Given the description of an element on the screen output the (x, y) to click on. 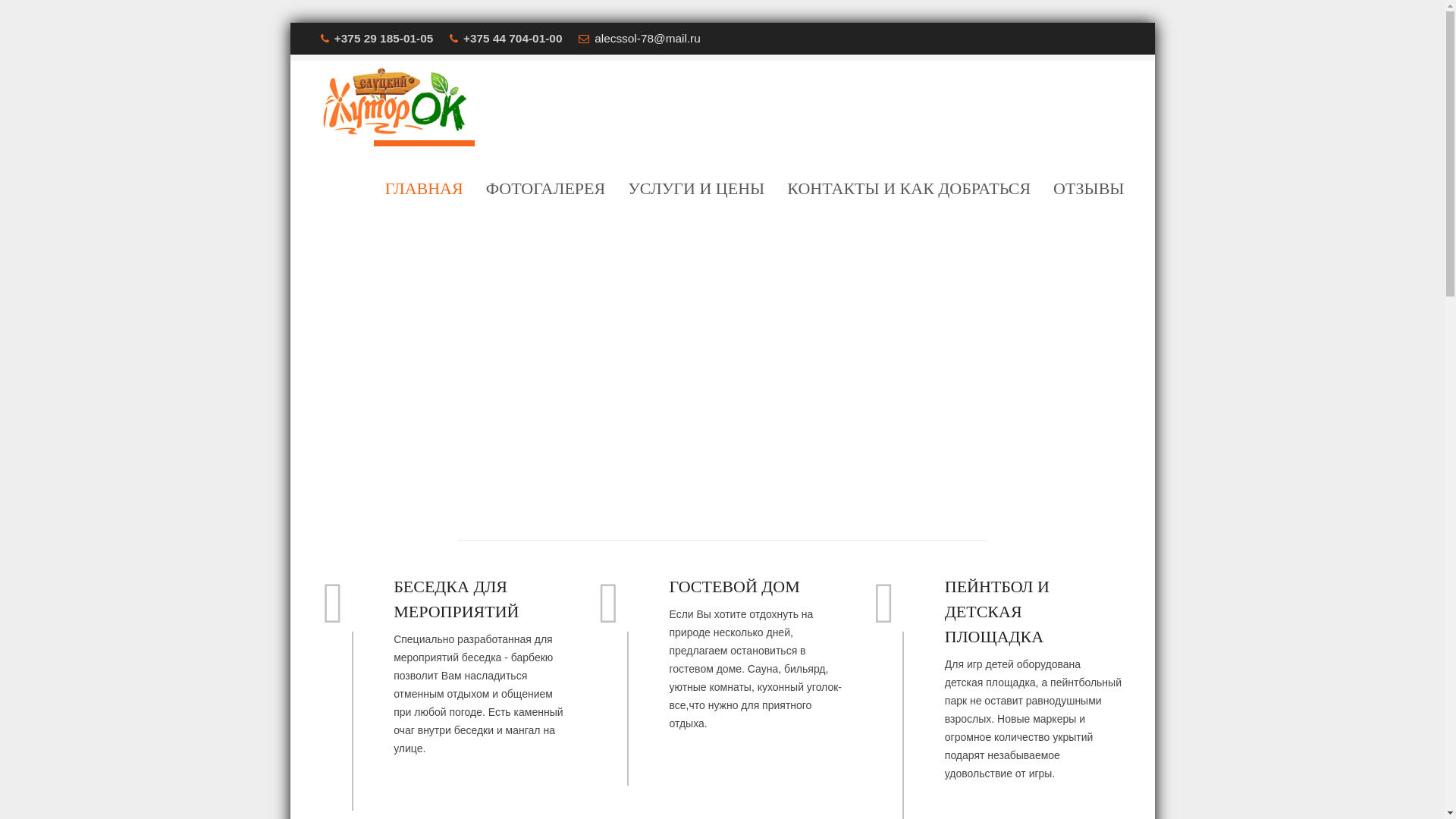
alecssol-78@mail.ru Element type: text (647, 37)
